Given the description of an element on the screen output the (x, y) to click on. 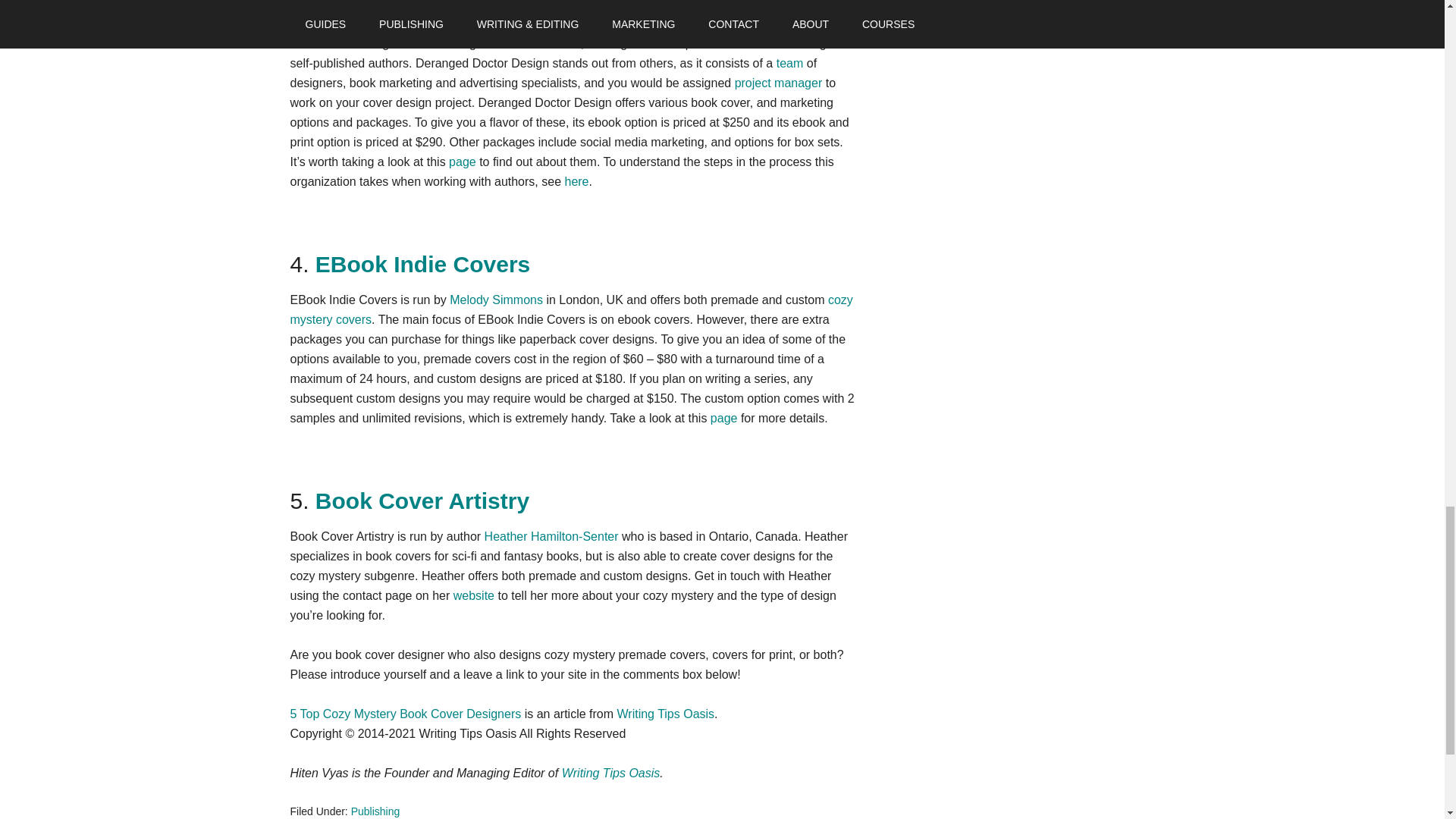
Writing Tips Oasis (664, 713)
Book Cover Artistry (422, 500)
Melody Simmons (496, 299)
page (462, 161)
Heather Hamilton-Senter (551, 535)
5 Top Cozy Mystery Book Cover Designers (405, 713)
project manager (778, 82)
website (473, 594)
team (789, 62)
cozy mystery covers (570, 309)
